Given the description of an element on the screen output the (x, y) to click on. 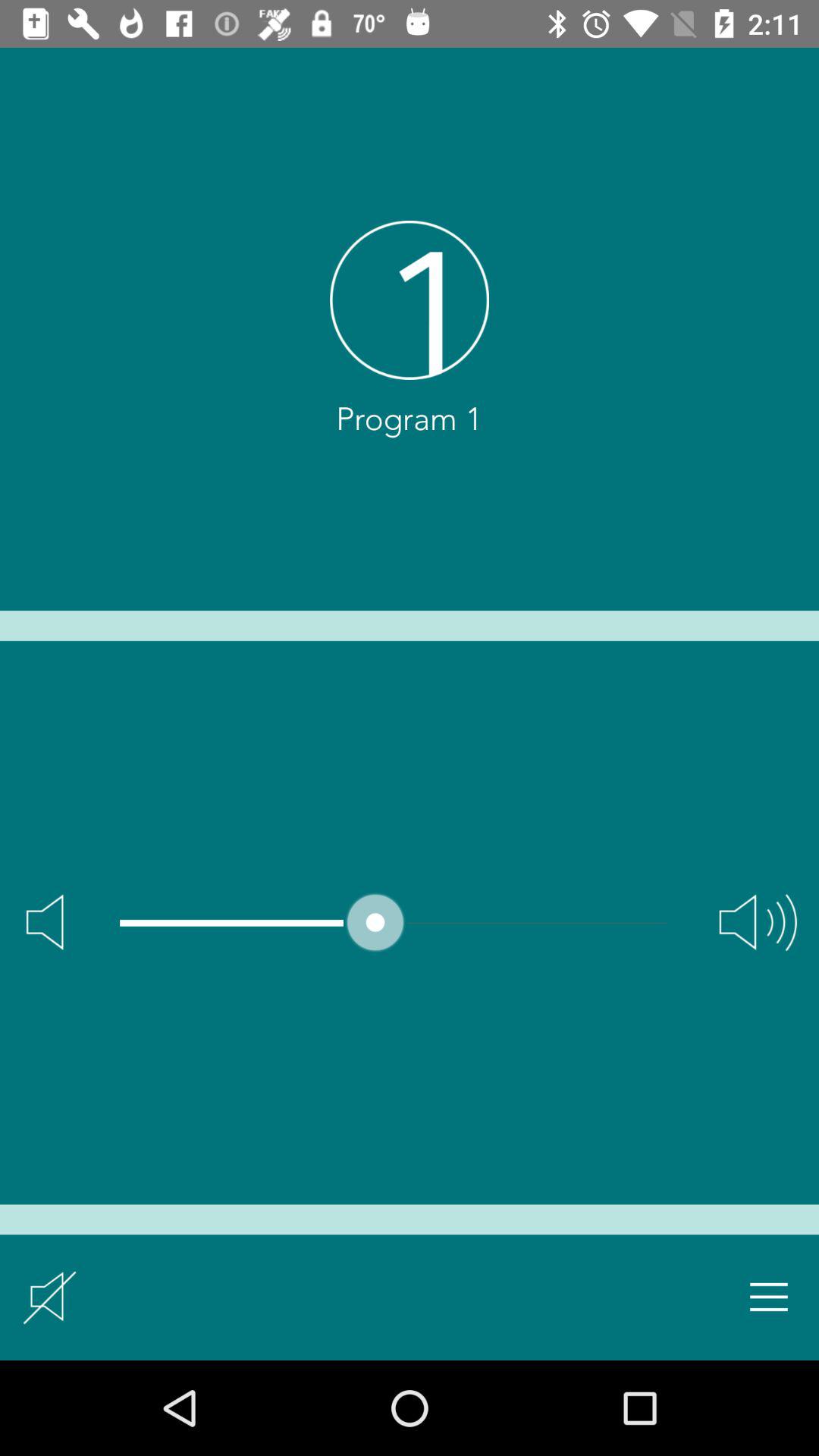
volume (758, 922)
